Given the description of an element on the screen output the (x, y) to click on. 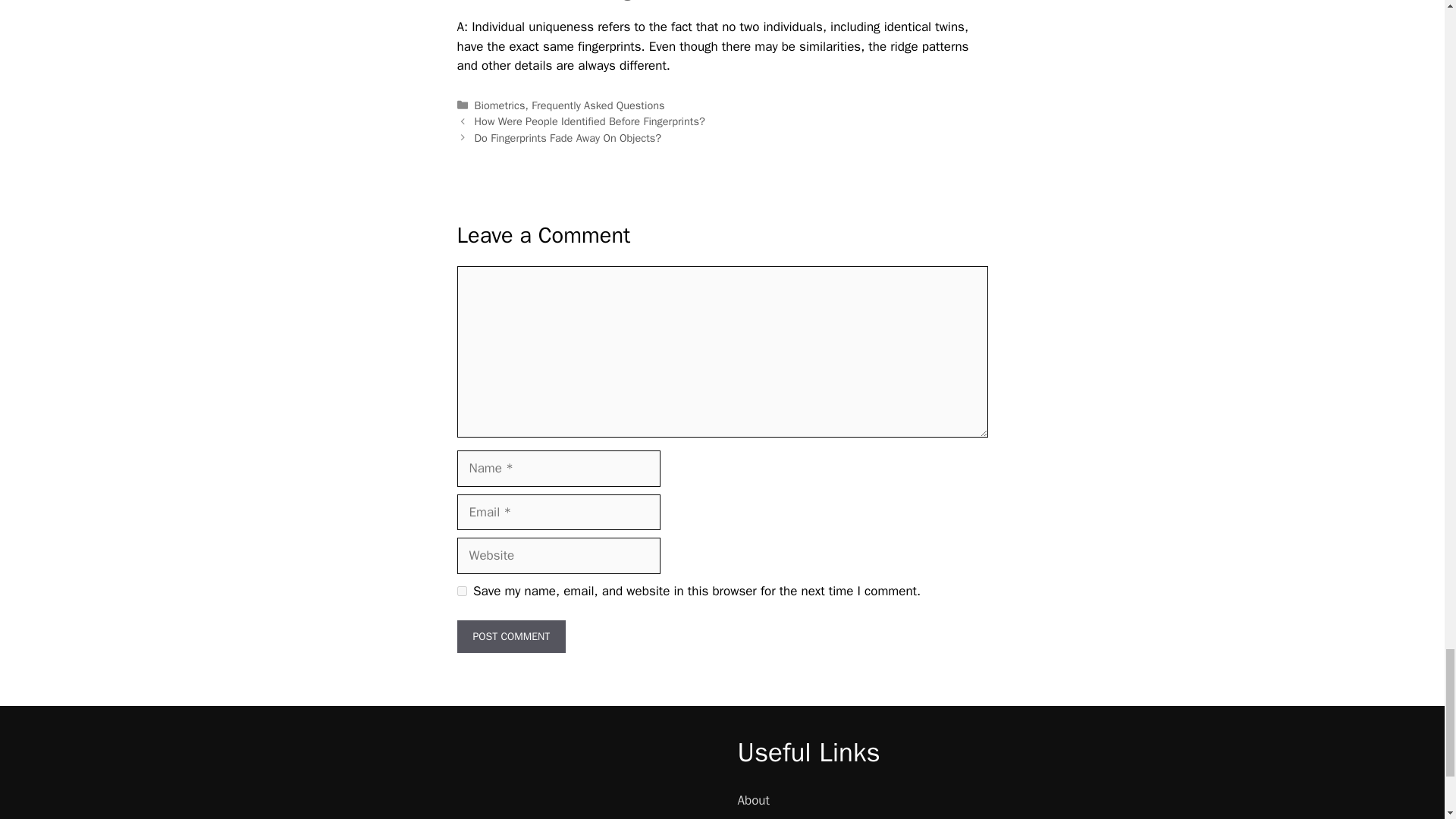
Post Comment (511, 635)
About (752, 800)
Do Fingerprints Fade Away On Objects? (568, 137)
How Were People Identified Before Fingerprints? (589, 120)
yes (461, 591)
Post Comment (511, 635)
Contact (758, 818)
Biometrics (499, 105)
Frequently Asked Questions (597, 105)
